Given the description of an element on the screen output the (x, y) to click on. 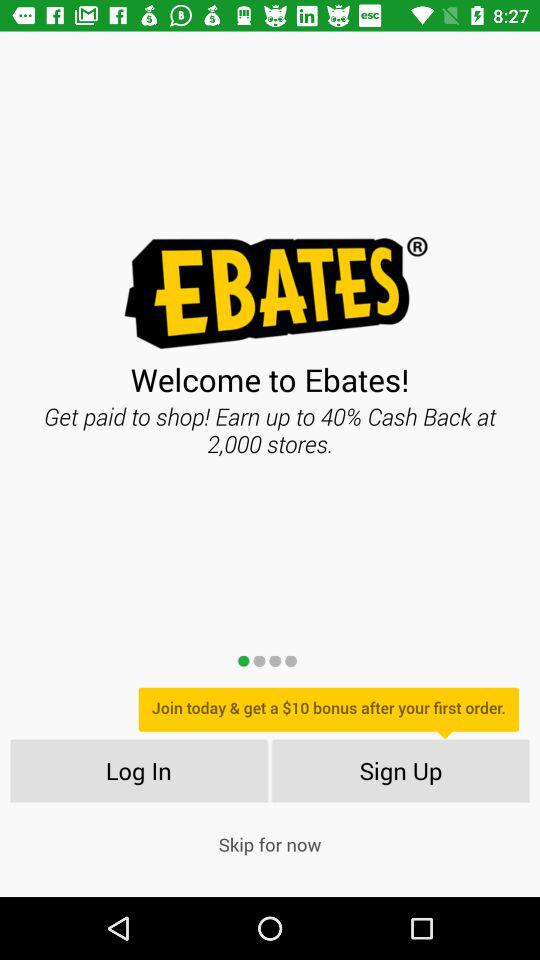
select the icon below the join today get (400, 770)
